Given the description of an element on the screen output the (x, y) to click on. 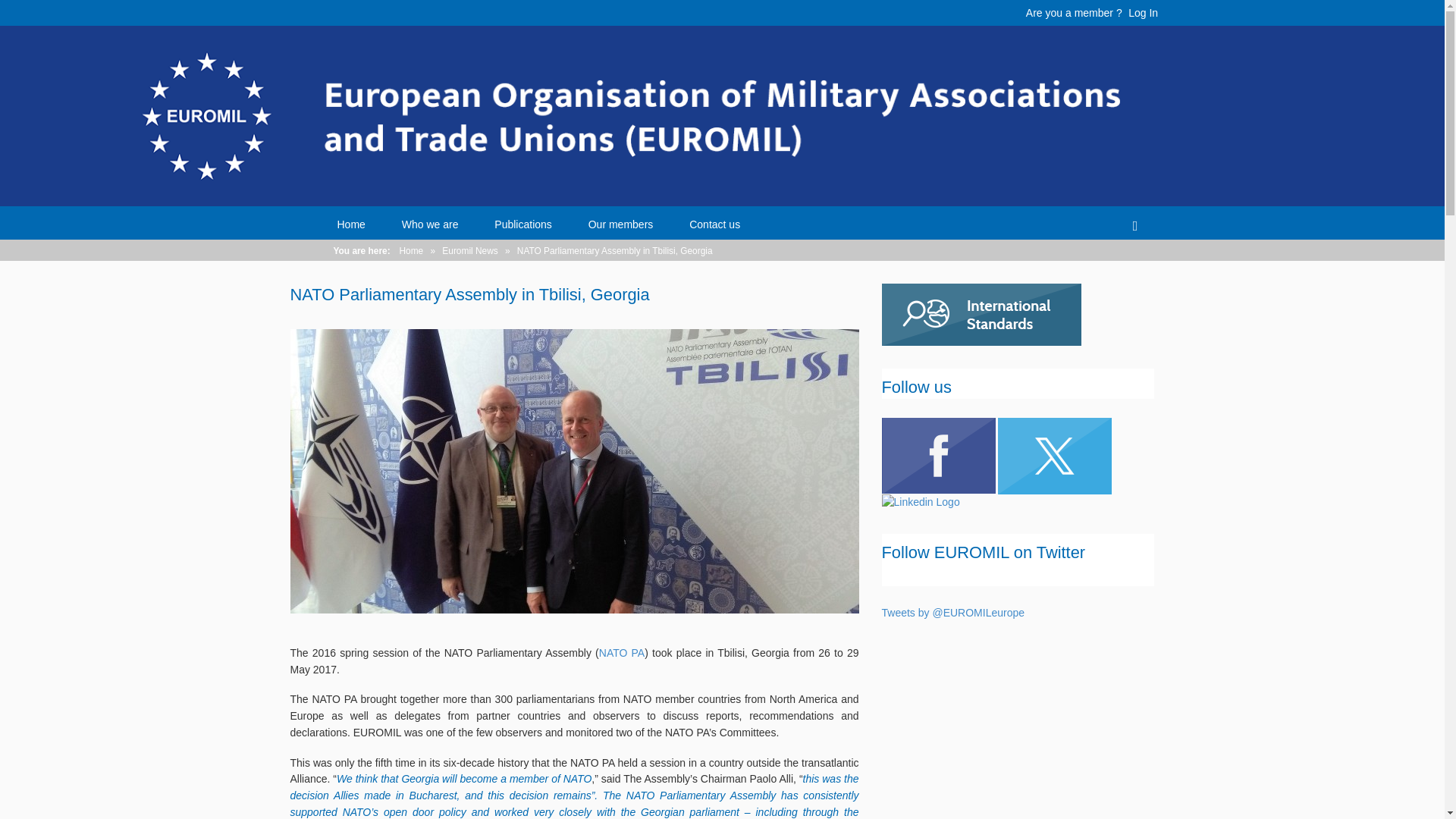
NATO PA (621, 653)
Publications (523, 225)
Log In (1142, 12)
Who we are (429, 225)
NATO Parliamentary Assembly in Tbilisi, Georgia (574, 475)
Euromil News (469, 250)
Euromil News (469, 250)
Our members (620, 225)
Home (350, 225)
Home (410, 250)
